Given the description of an element on the screen output the (x, y) to click on. 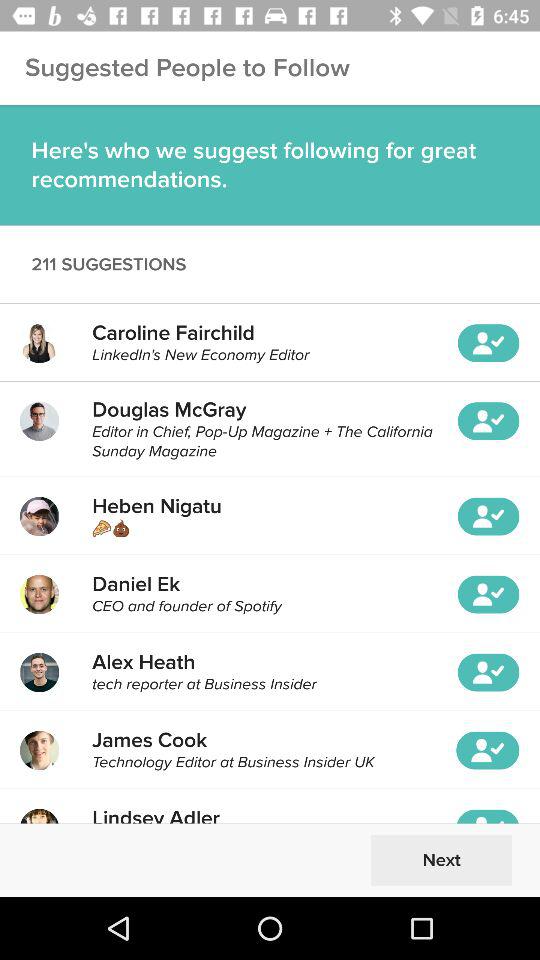
press the next icon (441, 859)
